Given the description of an element on the screen output the (x, y) to click on. 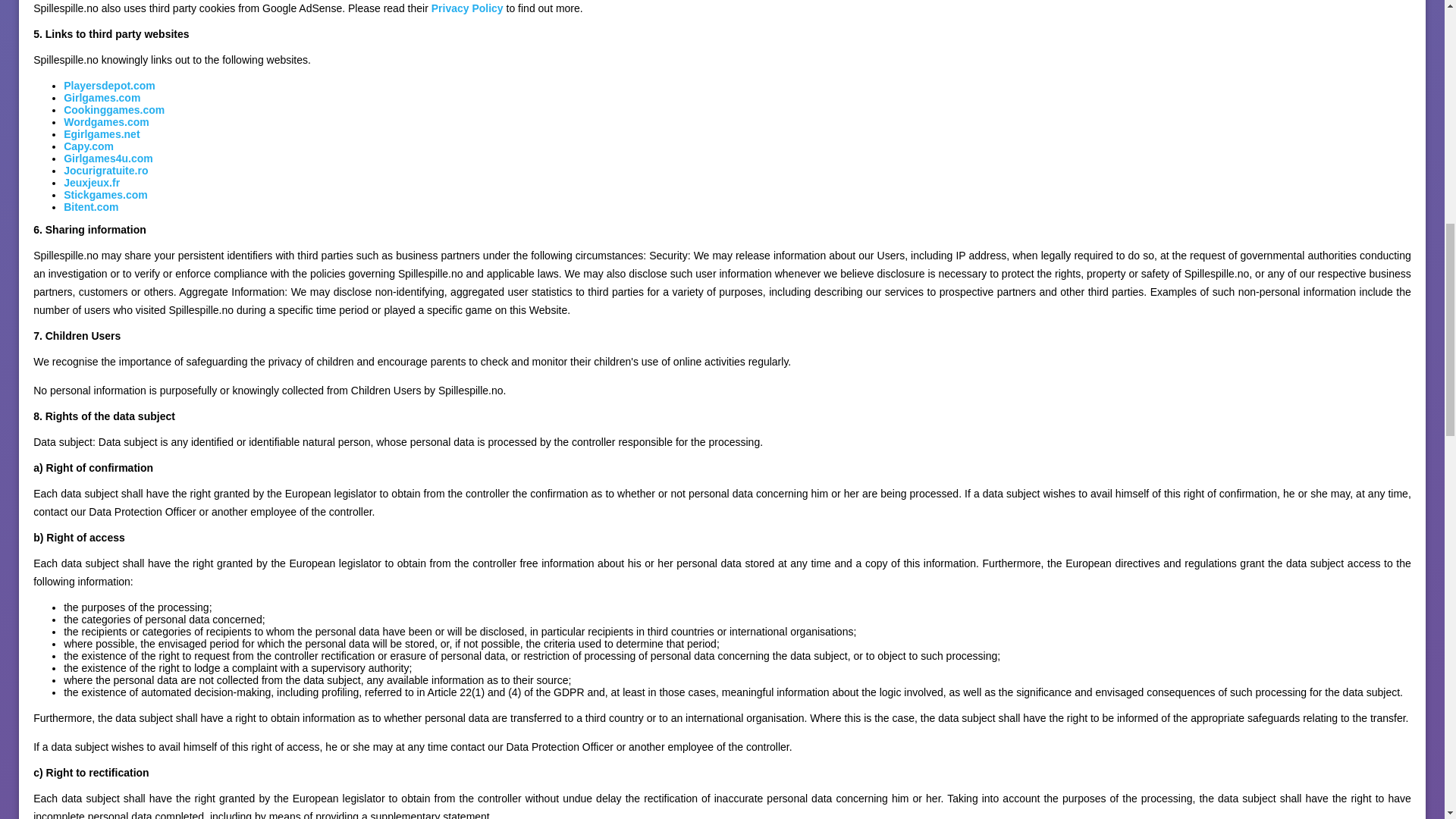
Wordgames.com (106, 121)
Capy.com (88, 146)
Jocurigratuite.ro (106, 170)
Cookinggames.com (114, 110)
Girlgames.com (101, 97)
Playersdepot.com (109, 85)
Egirlgames.net (101, 133)
Girlgames4u.com (108, 158)
Bitent.com (90, 206)
Stickgames.com (106, 194)
Privacy Policy (466, 8)
Jeuxjeux.fr (91, 182)
